Given the description of an element on the screen output the (x, y) to click on. 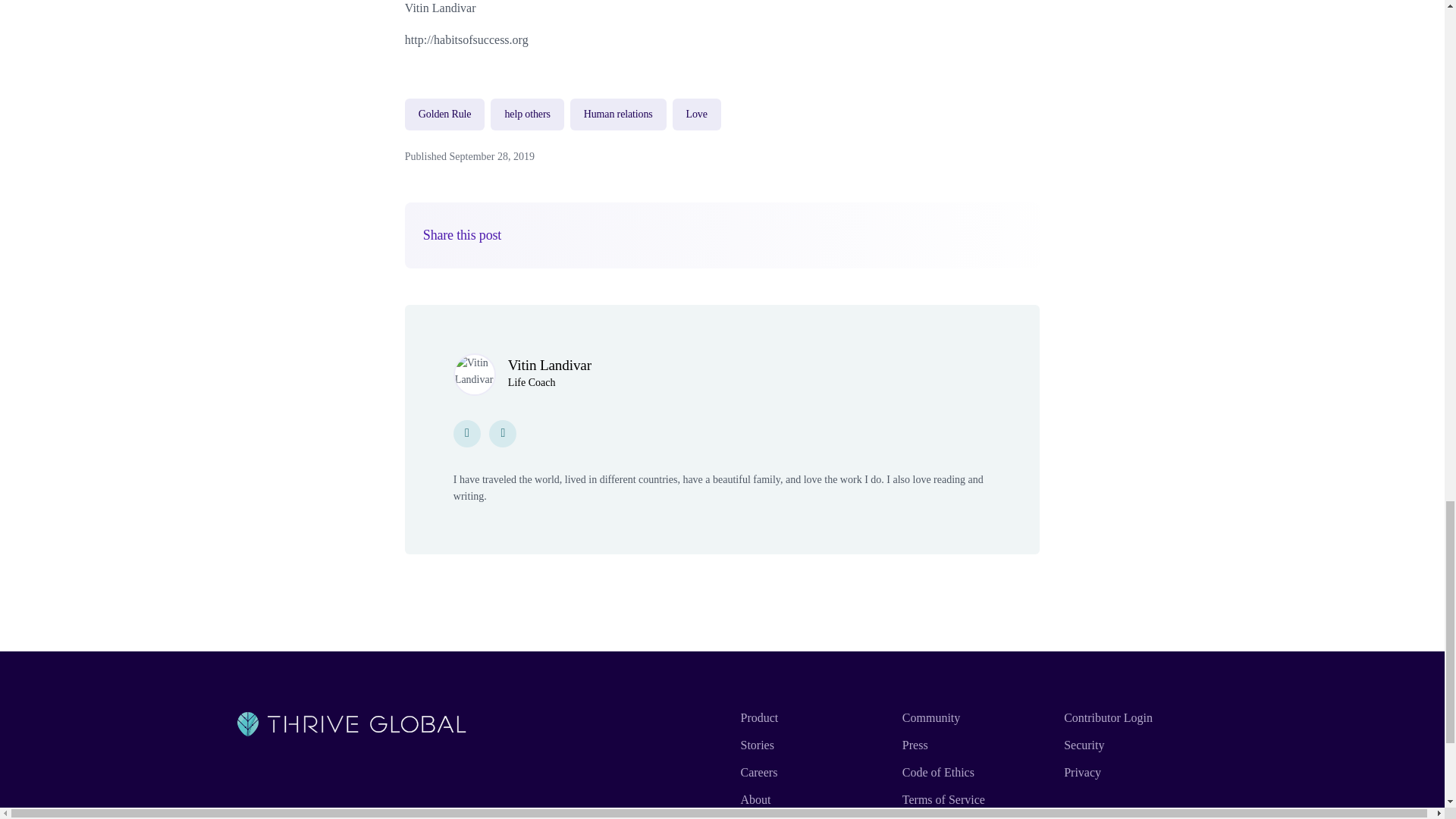
Vitin Landivar (549, 365)
